Given the description of an element on the screen output the (x, y) to click on. 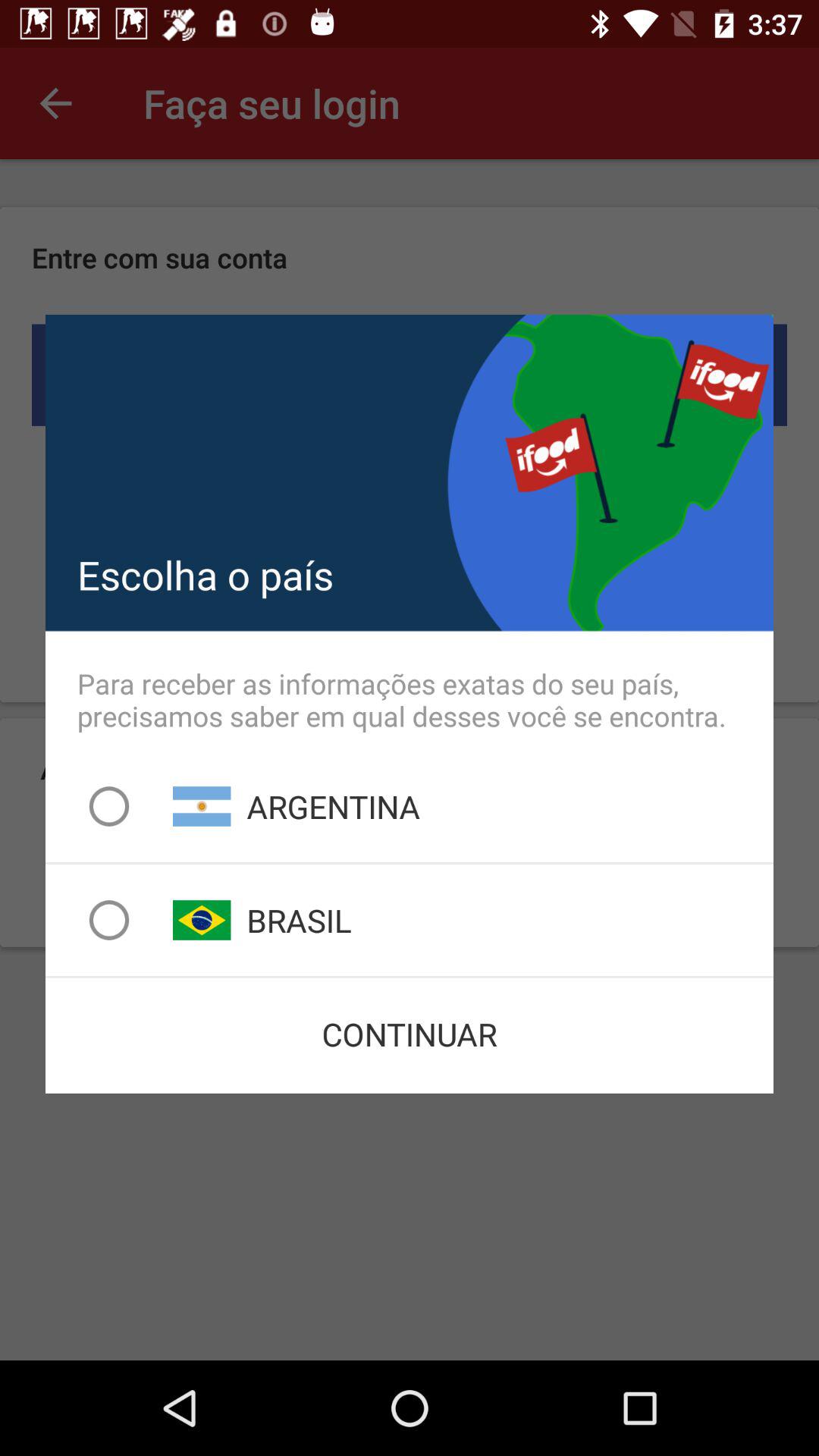
tap continuar (409, 1033)
